Given the description of an element on the screen output the (x, y) to click on. 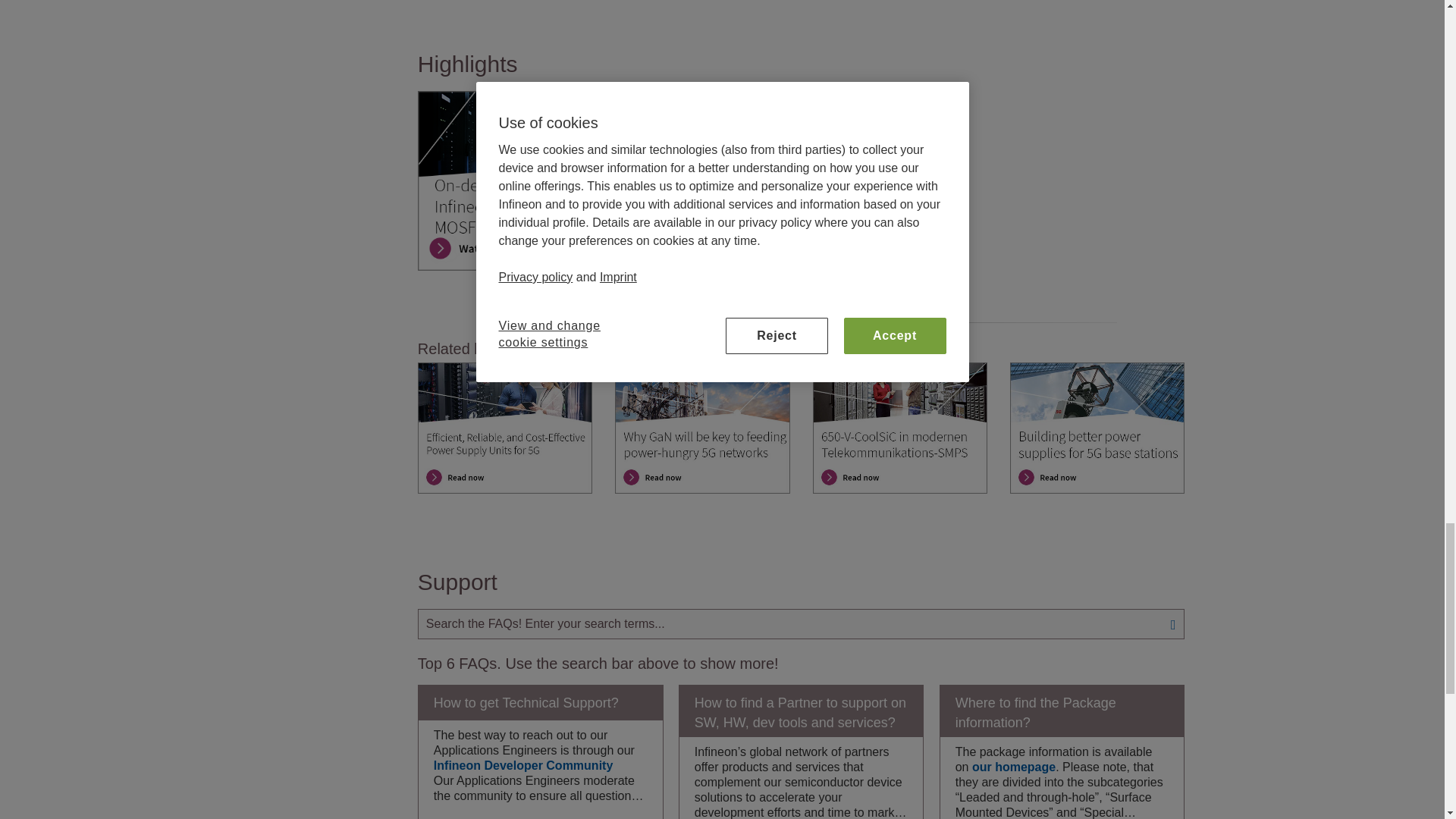
How to get Technical Support? (540, 702)
Where to find the Package information? (1062, 711)
